Given the description of an element on the screen output the (x, y) to click on. 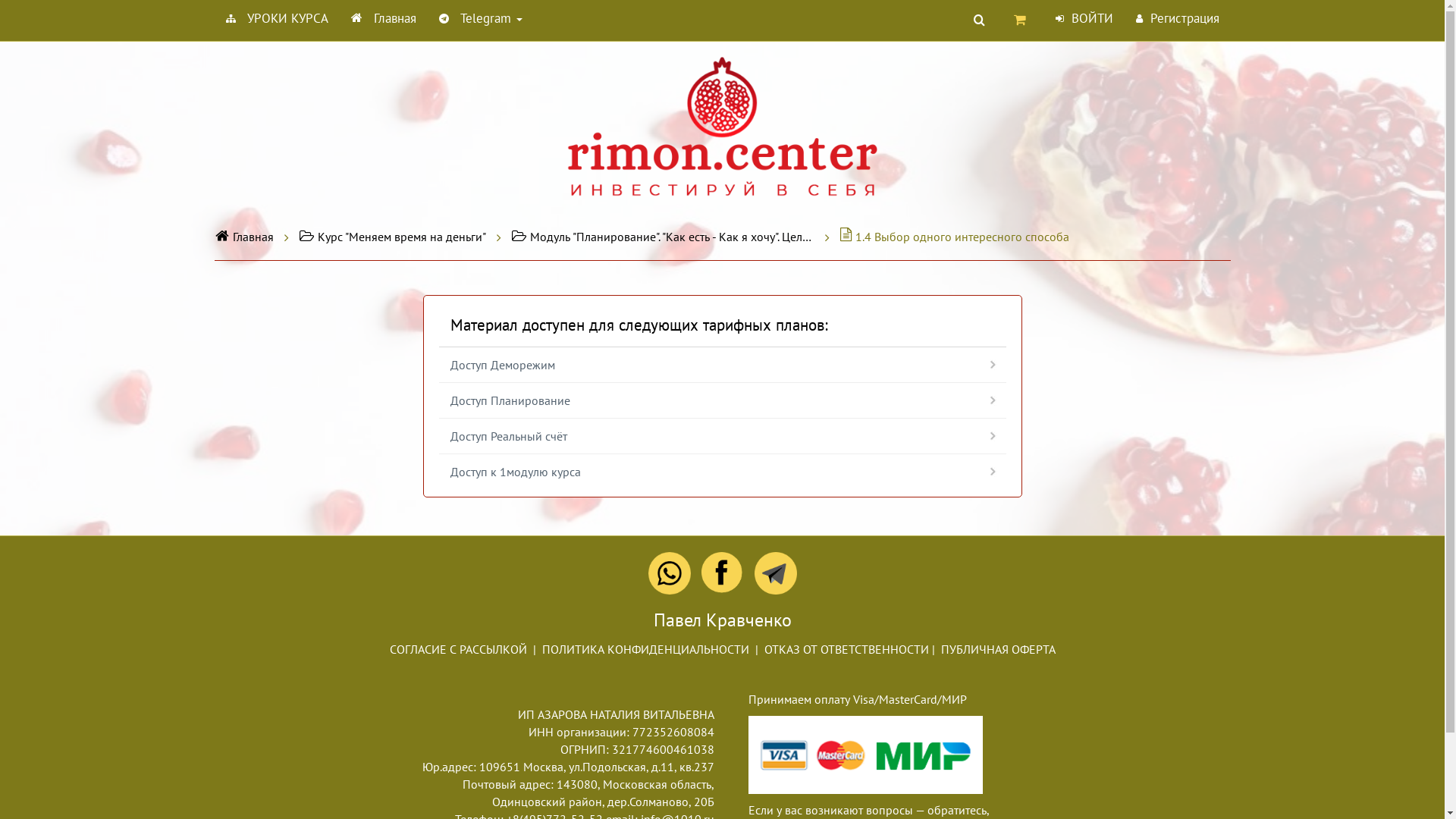
Telegram Element type: text (480, 18)
